Given the description of an element on the screen output the (x, y) to click on. 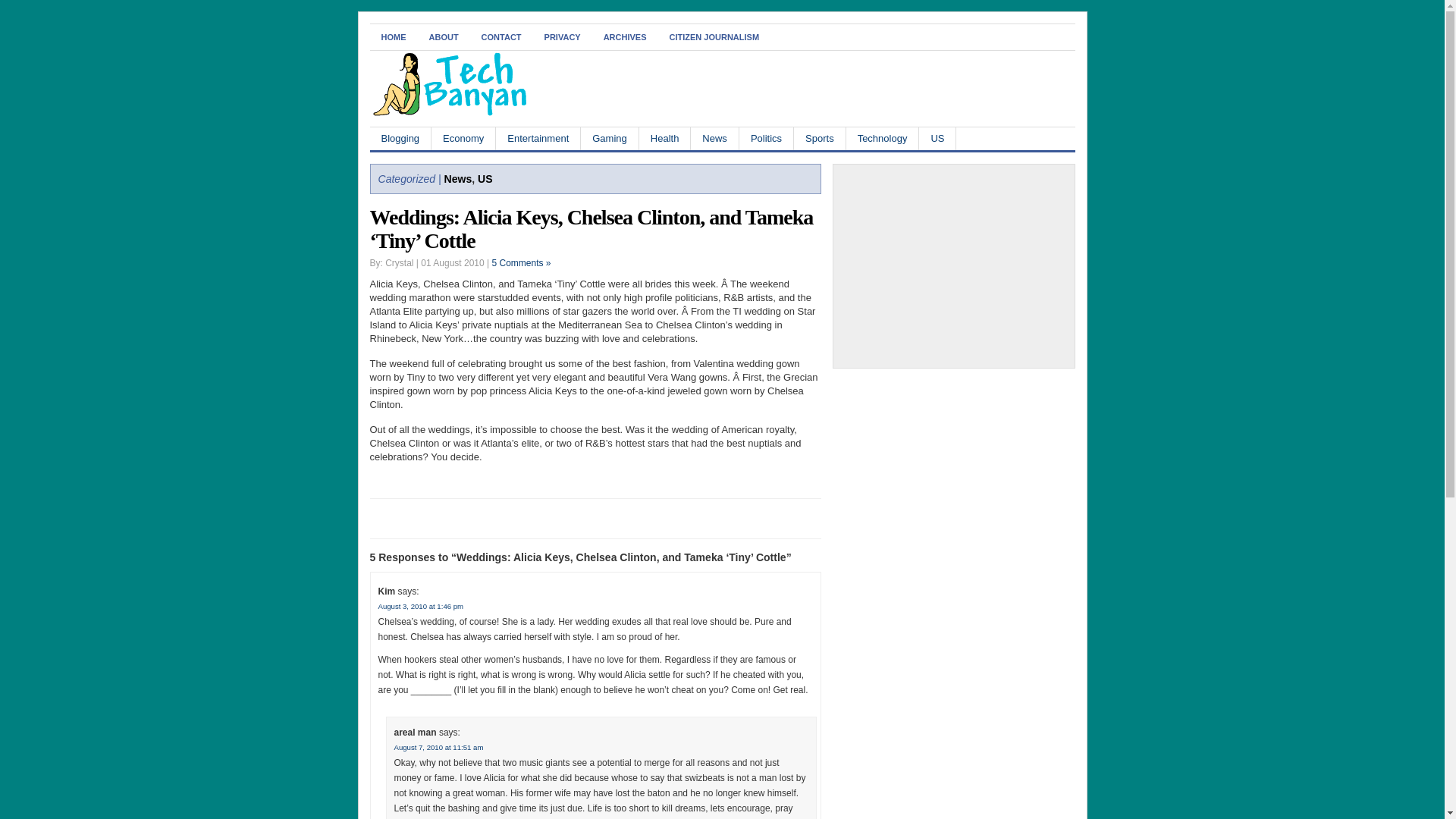
ABOUT (442, 36)
Economy (463, 138)
View all posts filed under Entertainment (538, 138)
View all posts filed under Economy (463, 138)
PRIVACY (562, 36)
Health (665, 138)
News (714, 138)
Politics (766, 138)
Blogging (400, 138)
Sports (819, 138)
Technology (882, 138)
HOME (393, 36)
ARCHIVES (625, 36)
TechBanyan (449, 113)
View all posts filed under Blogging (400, 138)
